Given the description of an element on the screen output the (x, y) to click on. 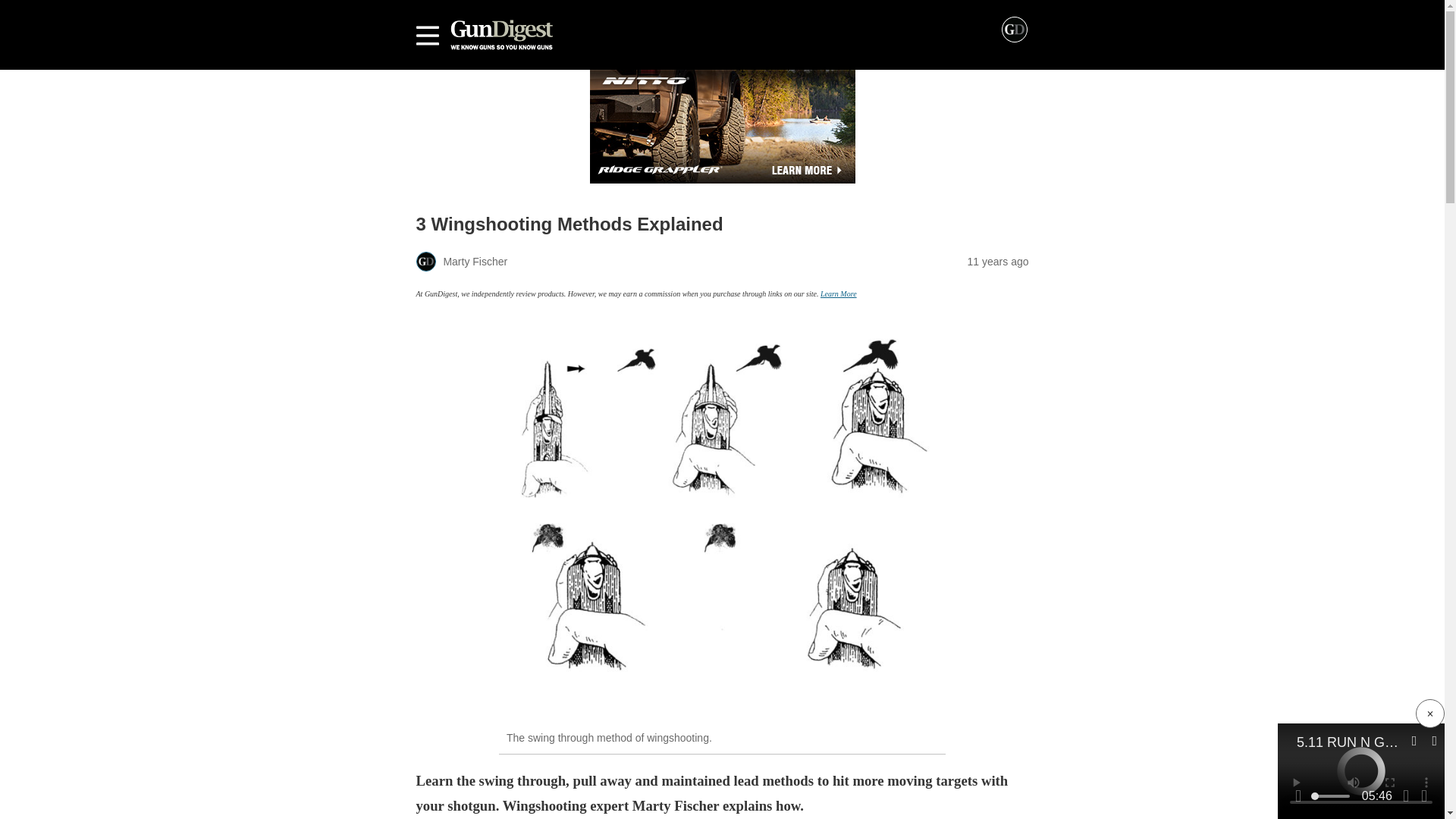
3rd party ad content (722, 126)
Learn More (839, 293)
